Given the description of an element on the screen output the (x, y) to click on. 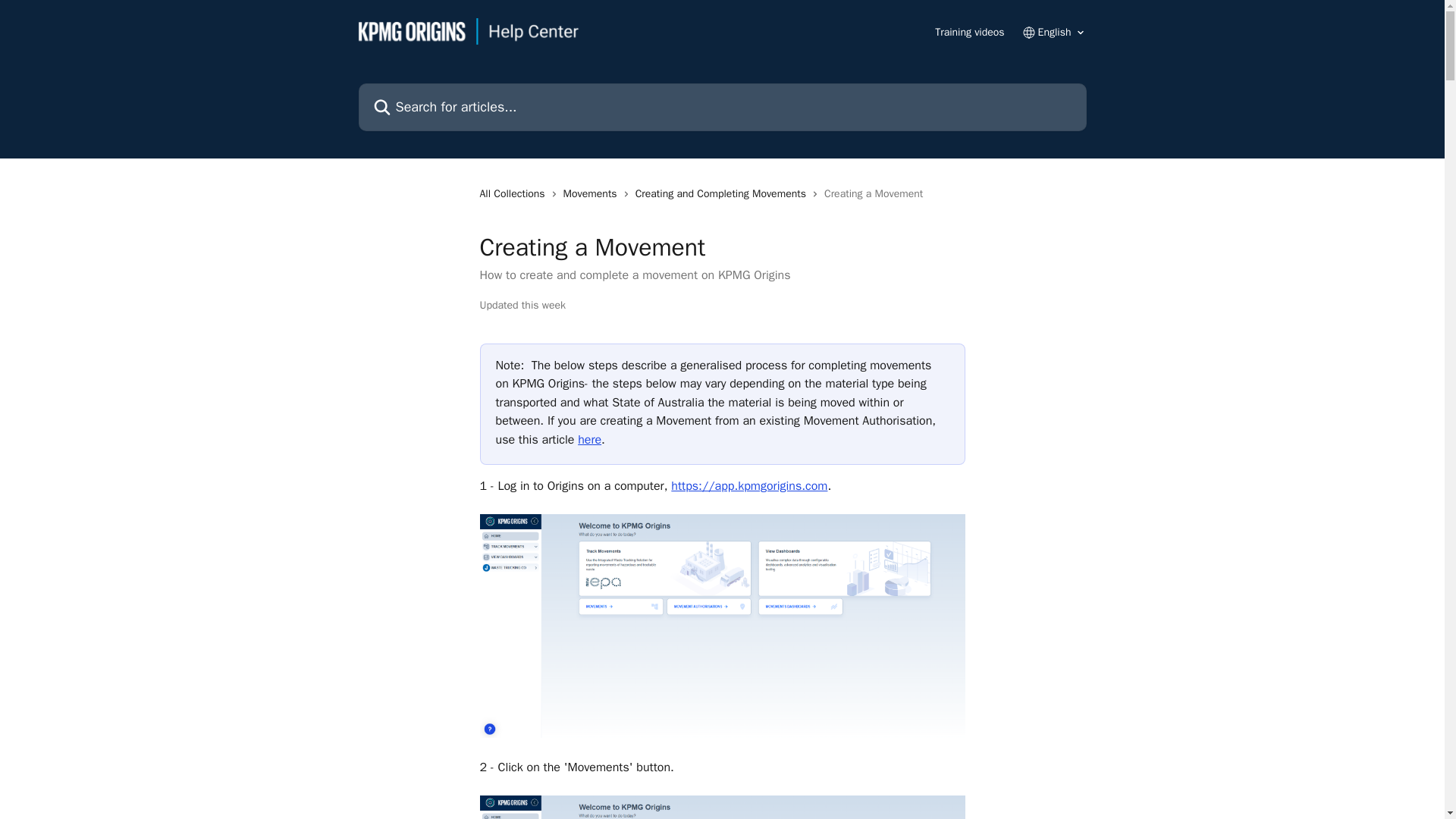
here (589, 439)
Movements (593, 193)
Creating and Completing Movements (723, 193)
All Collections (514, 193)
Training videos (969, 32)
